Given the description of an element on the screen output the (x, y) to click on. 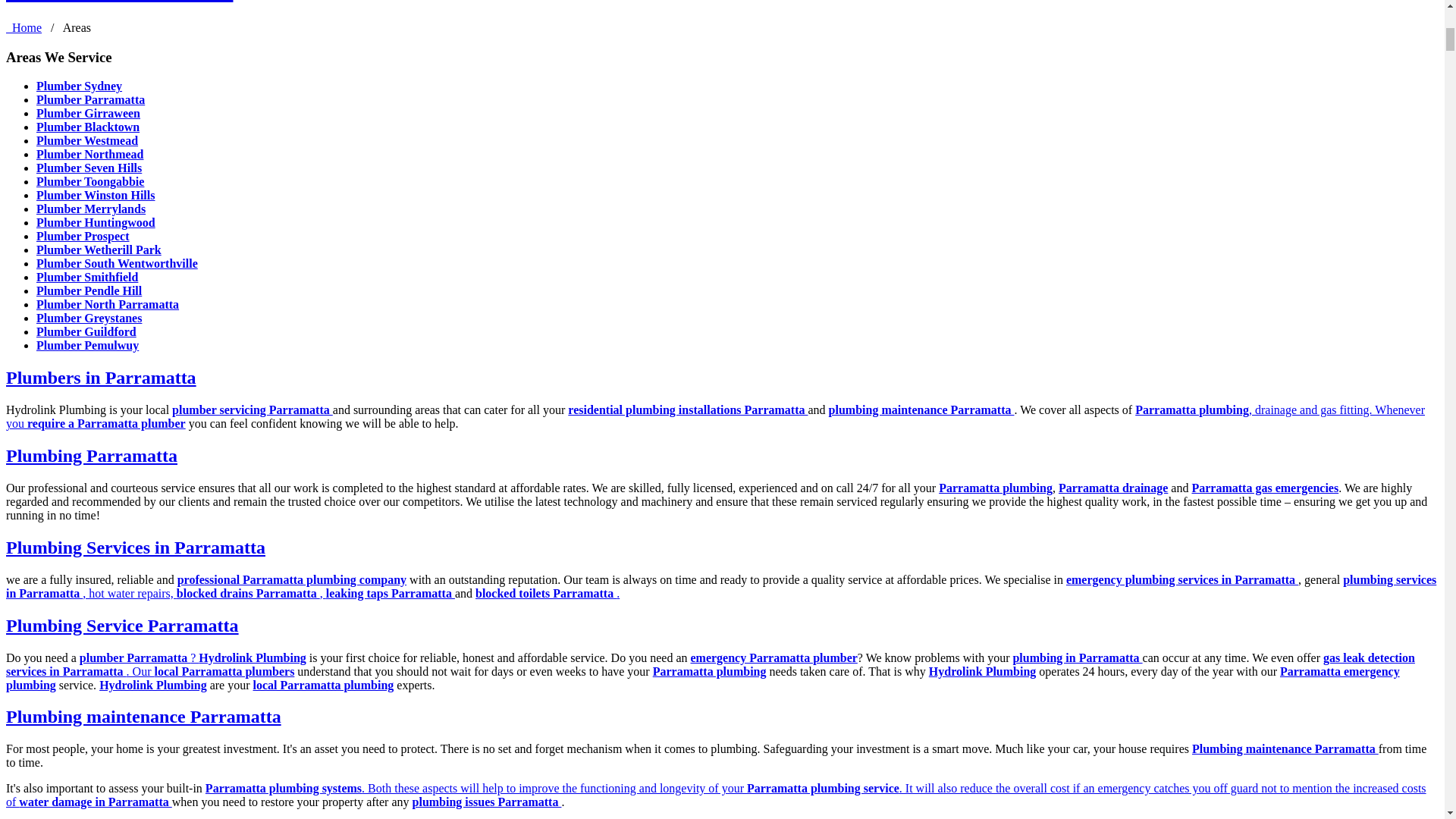
Home (23, 27)
